Given the description of an element on the screen output the (x, y) to click on. 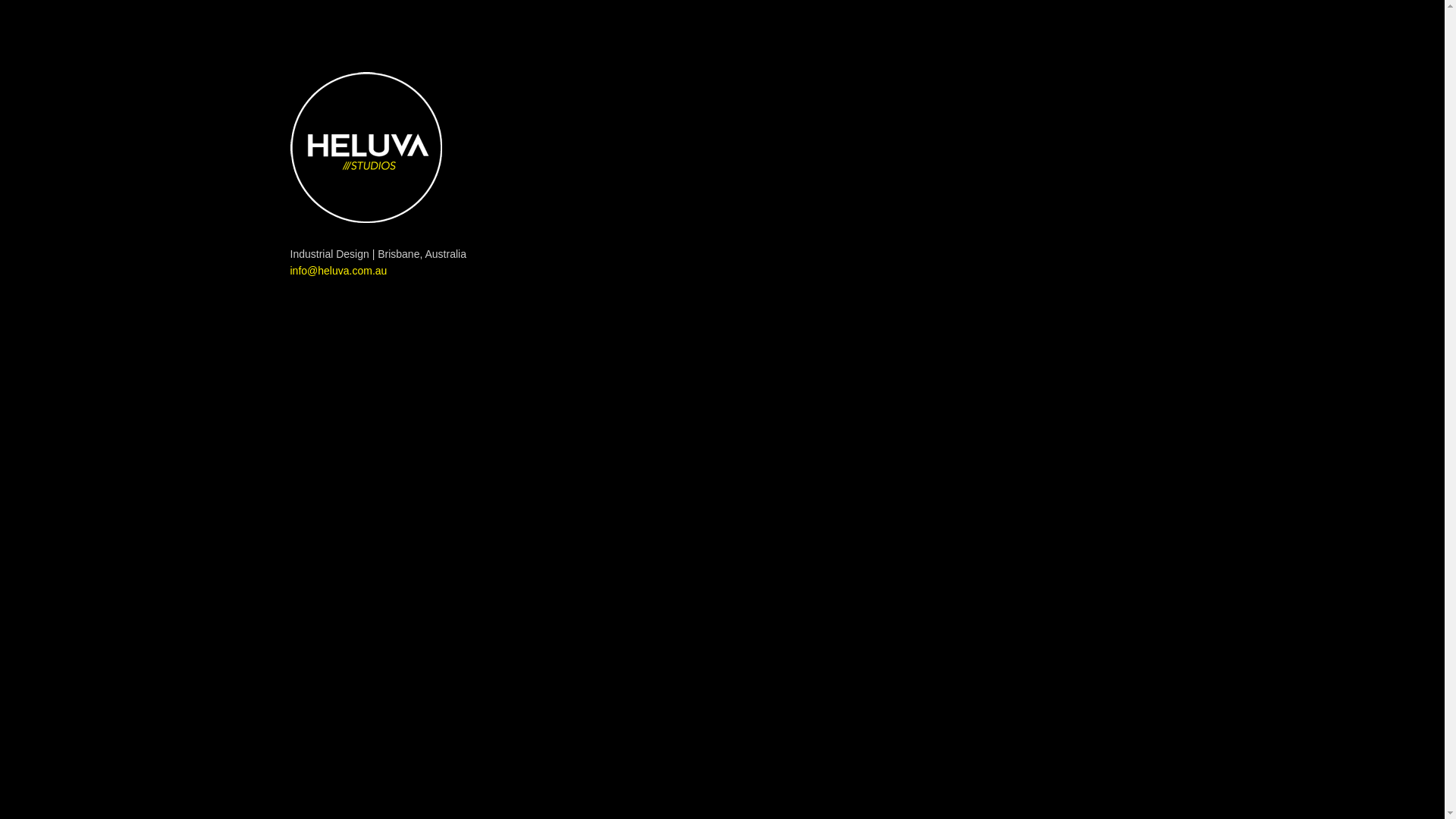
info@heluva.com.au Element type: text (337, 270)
Heluva Studios Element type: hover (365, 147)
